Given the description of an element on the screen output the (x, y) to click on. 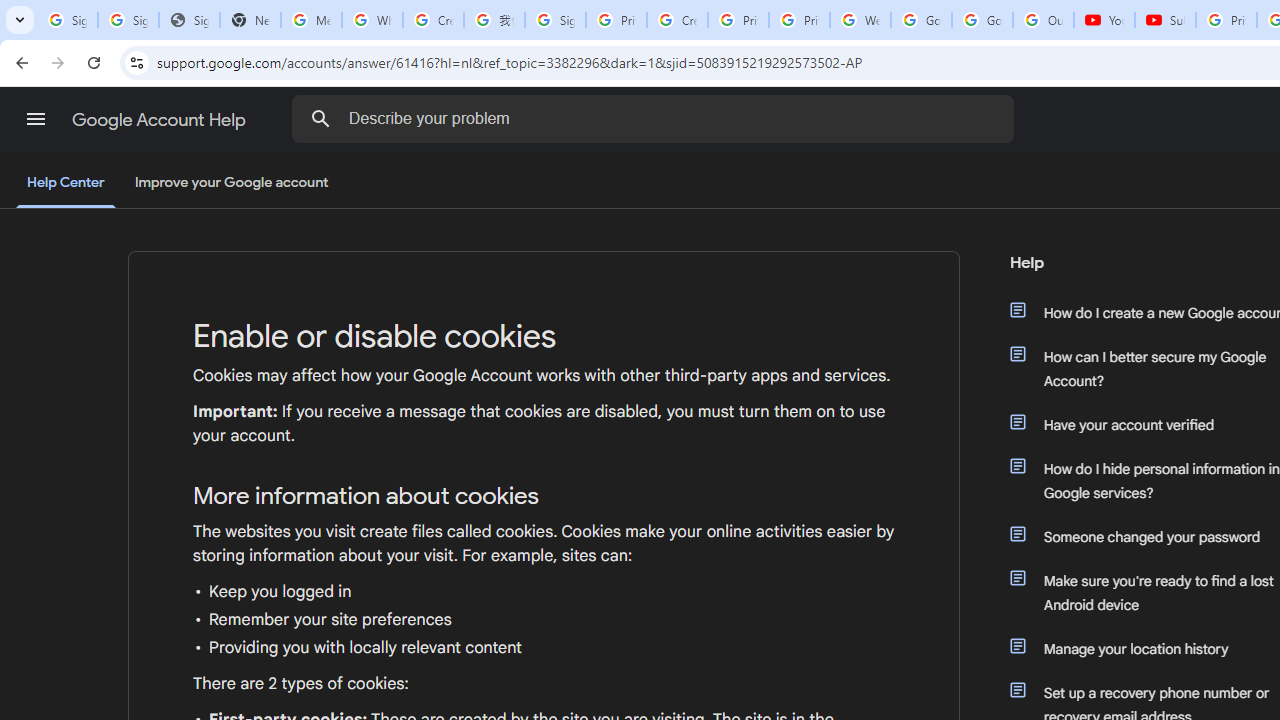
Welcome to My Activity (859, 20)
Main menu (35, 119)
Sign in - Google Accounts (128, 20)
YouTube (1104, 20)
Create your Google Account (433, 20)
Google Account Help (160, 119)
Search the Help Center (320, 118)
Google Account (982, 20)
